Given the description of an element on the screen output the (x, y) to click on. 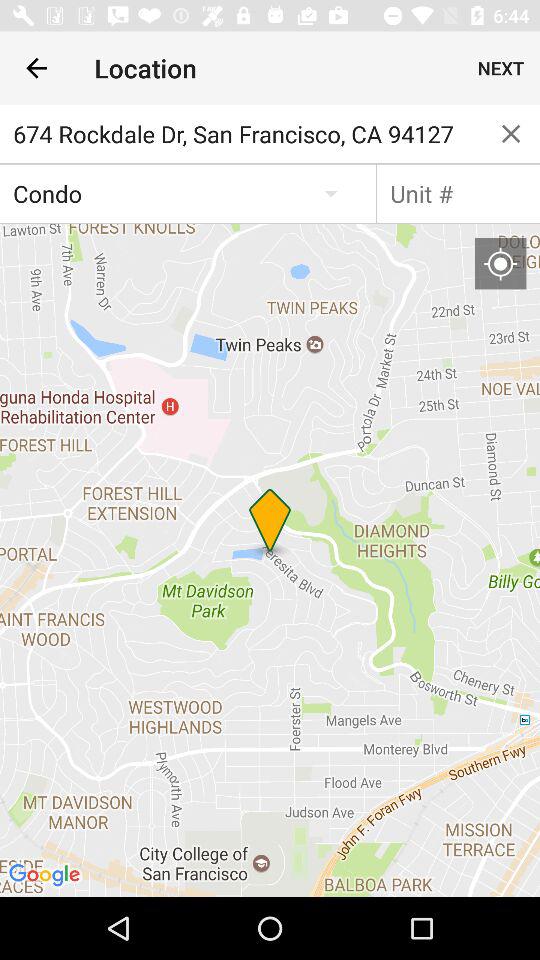
put the number in (458, 193)
